Given the description of an element on the screen output the (x, y) to click on. 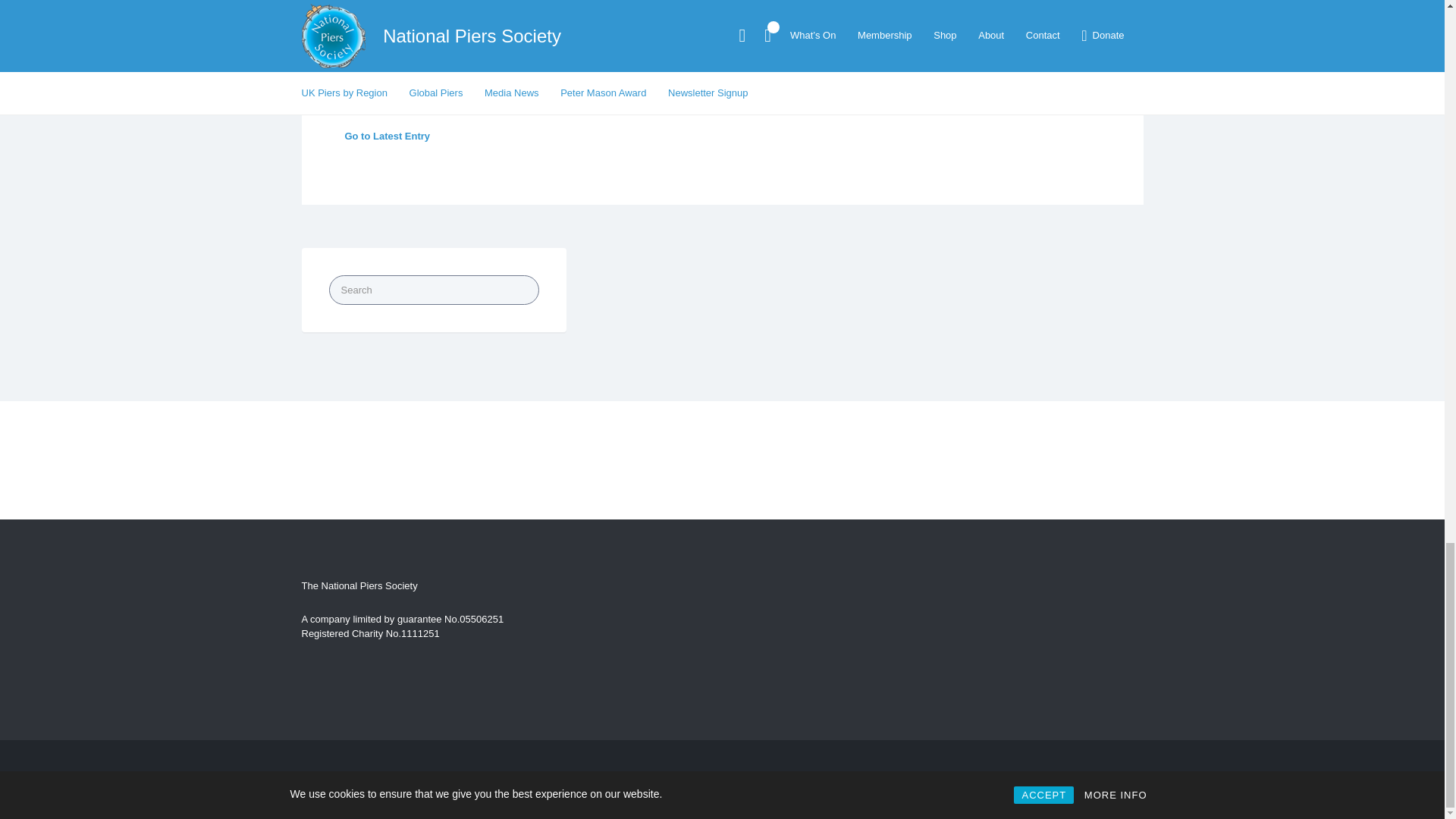
Search for: (434, 289)
